Given the description of an element on the screen output the (x, y) to click on. 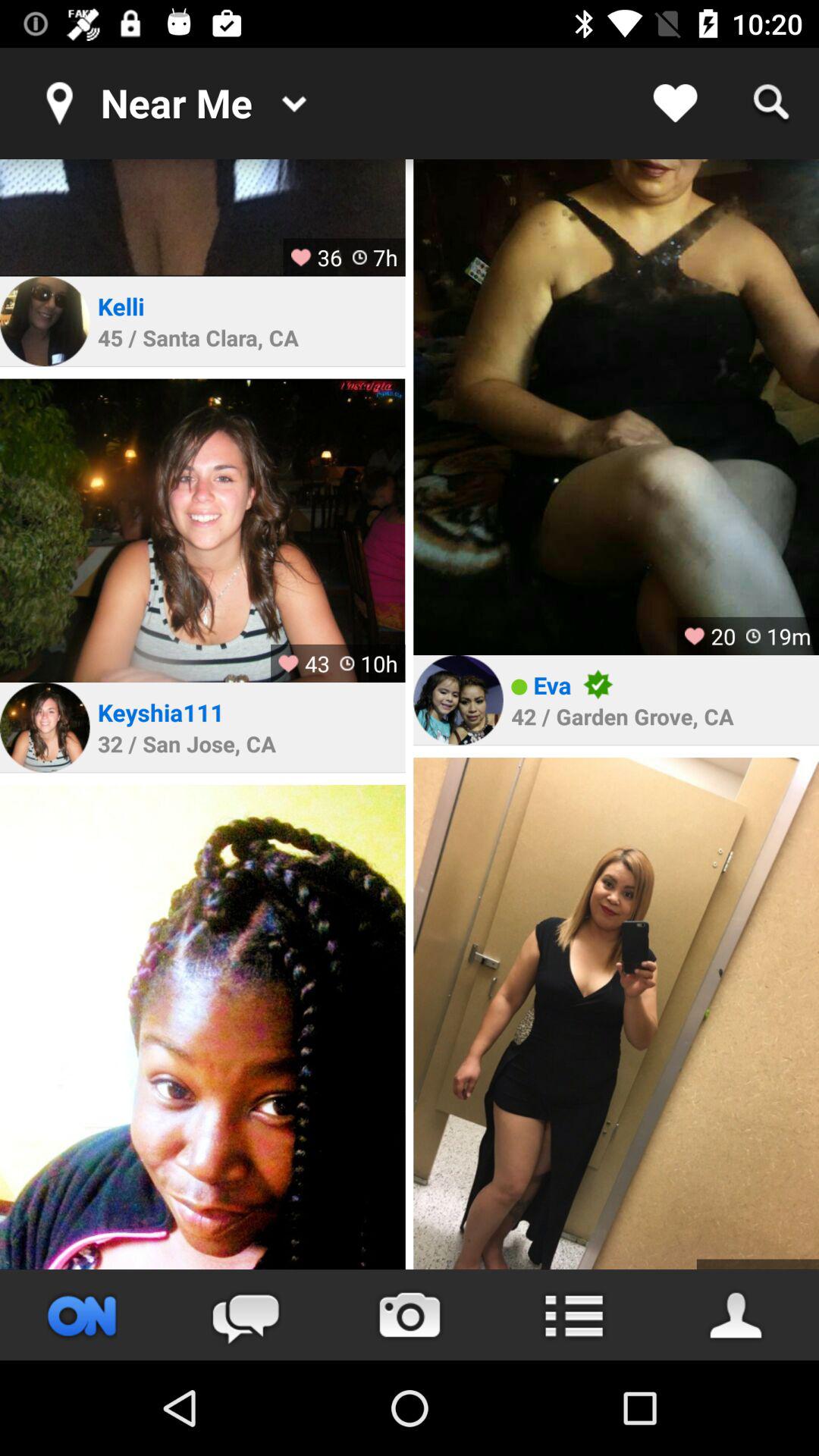
options (573, 1315)
